Given the description of an element on the screen output the (x, y) to click on. 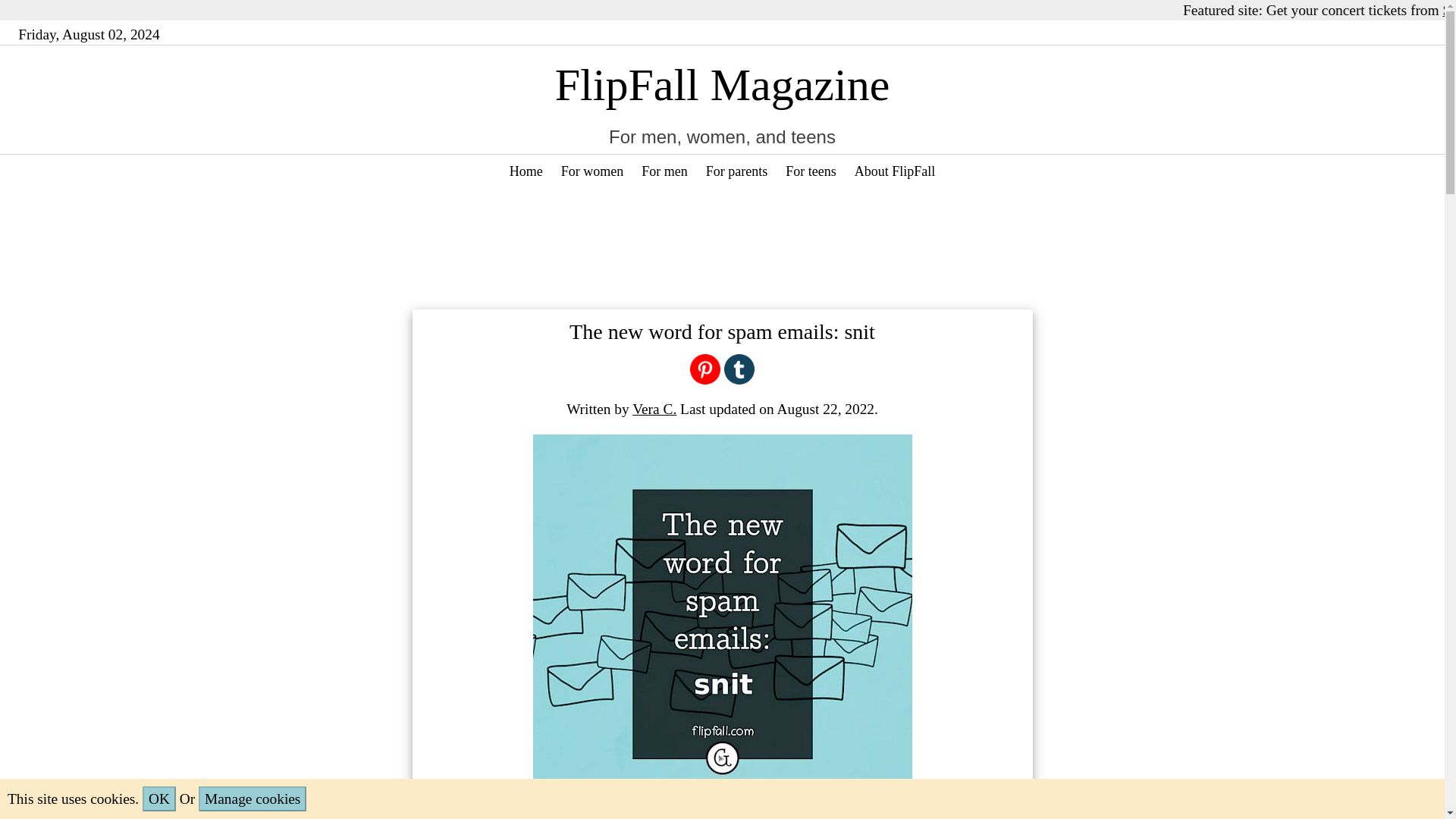
For women (592, 171)
For teens (810, 171)
Share on Tumblr (738, 367)
About FlipFall (894, 171)
share on Pinterest (705, 367)
FlipFall Magazine (721, 84)
Home (525, 171)
Vera C. (654, 408)
For men (664, 171)
For parents (736, 171)
